Given the description of an element on the screen output the (x, y) to click on. 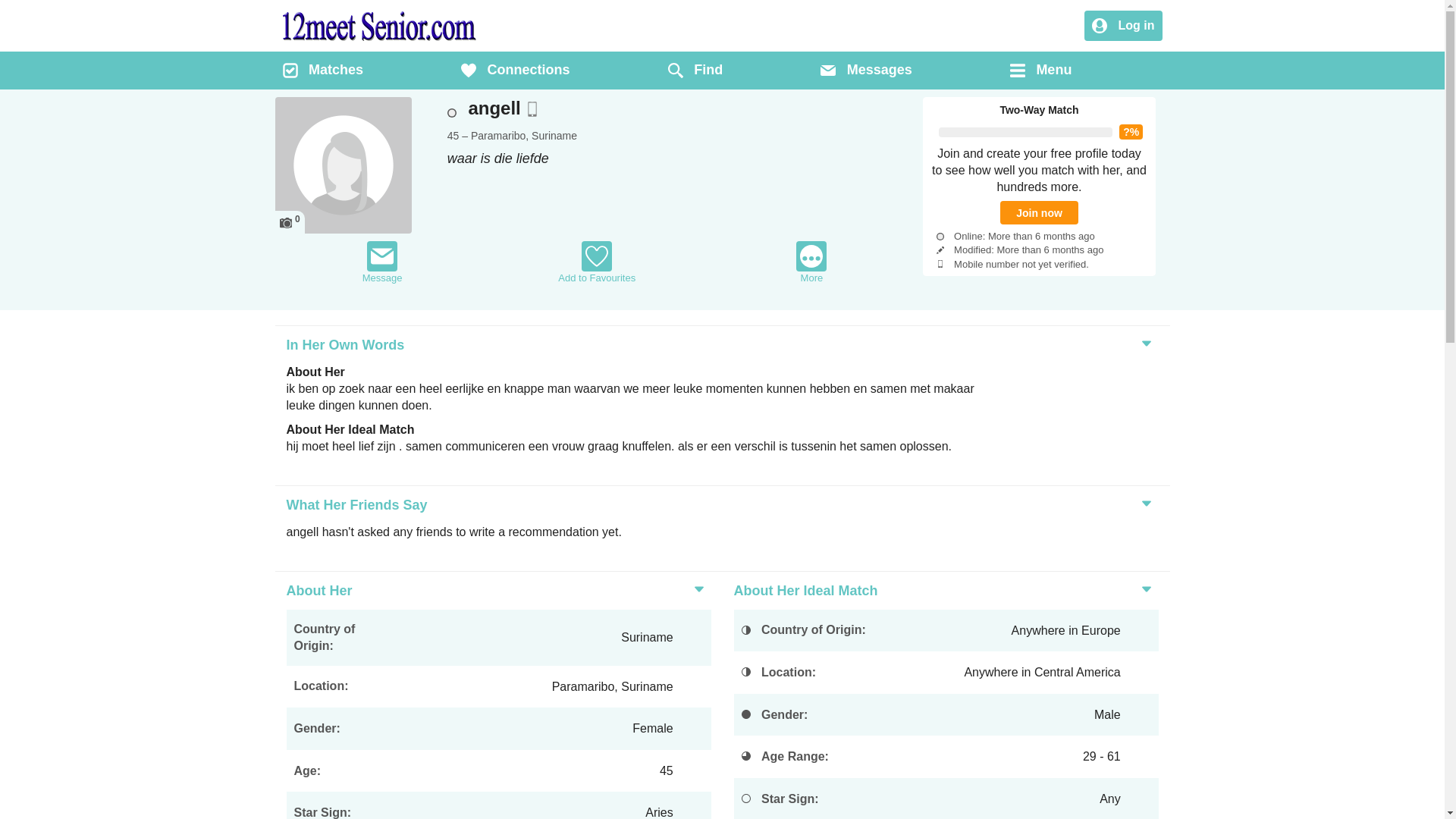
What Her Friends Say Element type: text (354, 505)
About Her Element type: text (316, 590)
12meetsenior.com Element type: text (378, 25)
Message Element type: text (382, 262)
In Her Own Words Element type: text (342, 345)
Matches Element type: text (322, 70)
Add to Favourites Element type: text (596, 262)
More Element type: text (811, 262)
Messages Element type: text (866, 70)
Log in Element type: text (1123, 27)
angell hasn't yet uploaded any photos Element type: hover (342, 165)
Menu Element type: text (1040, 70)
Find Element type: text (695, 70)
Join now Element type: text (1039, 212)
About Her Ideal Match Element type: text (802, 590)
Connections Element type: text (515, 70)
